Given the description of an element on the screen output the (x, y) to click on. 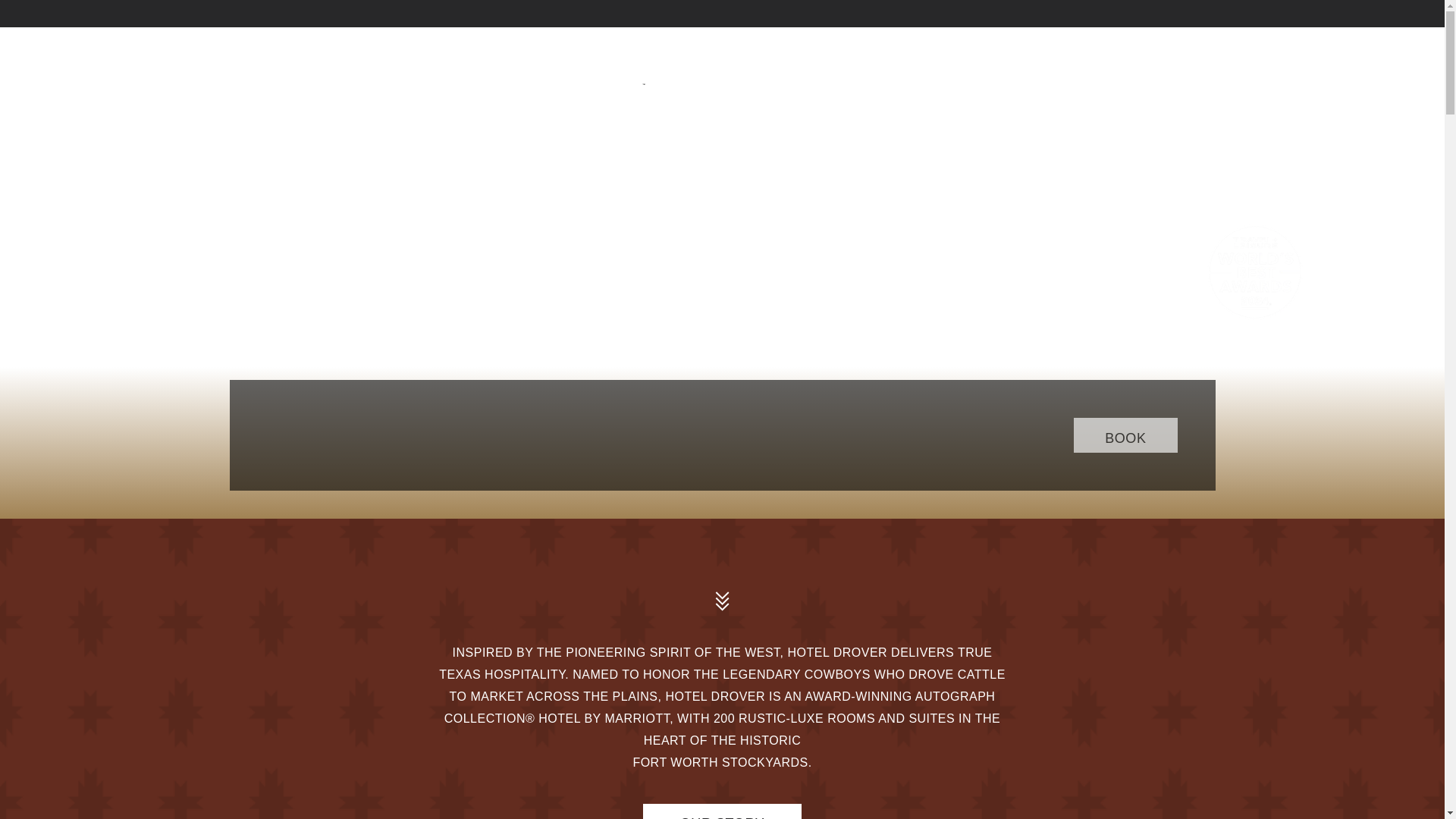
ABOUT (278, 80)
GATHER (971, 67)
GALLERY (864, 67)
EXPLORE (865, 94)
OFFERS (452, 80)
STAY (362, 80)
